Given the description of an element on the screen output the (x, y) to click on. 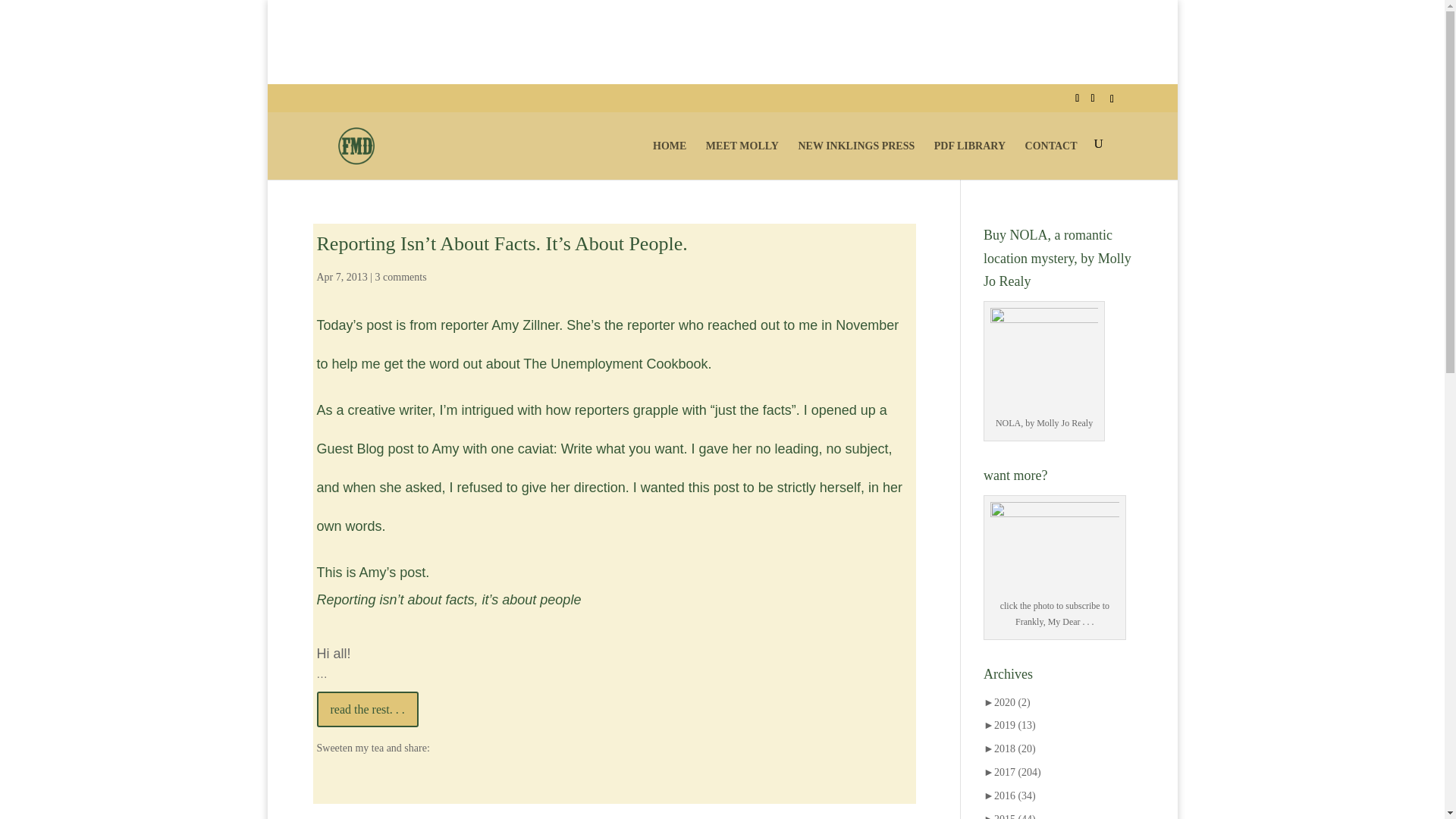
CONTACT (1051, 157)
click to expand (1009, 725)
NEW INKLINGS PRESS (855, 157)
PDF LIBRARY (970, 157)
3 comments (400, 276)
MEET MOLLY (742, 157)
click to expand (1007, 702)
read the rest. . . (368, 709)
